Given the description of an element on the screen output the (x, y) to click on. 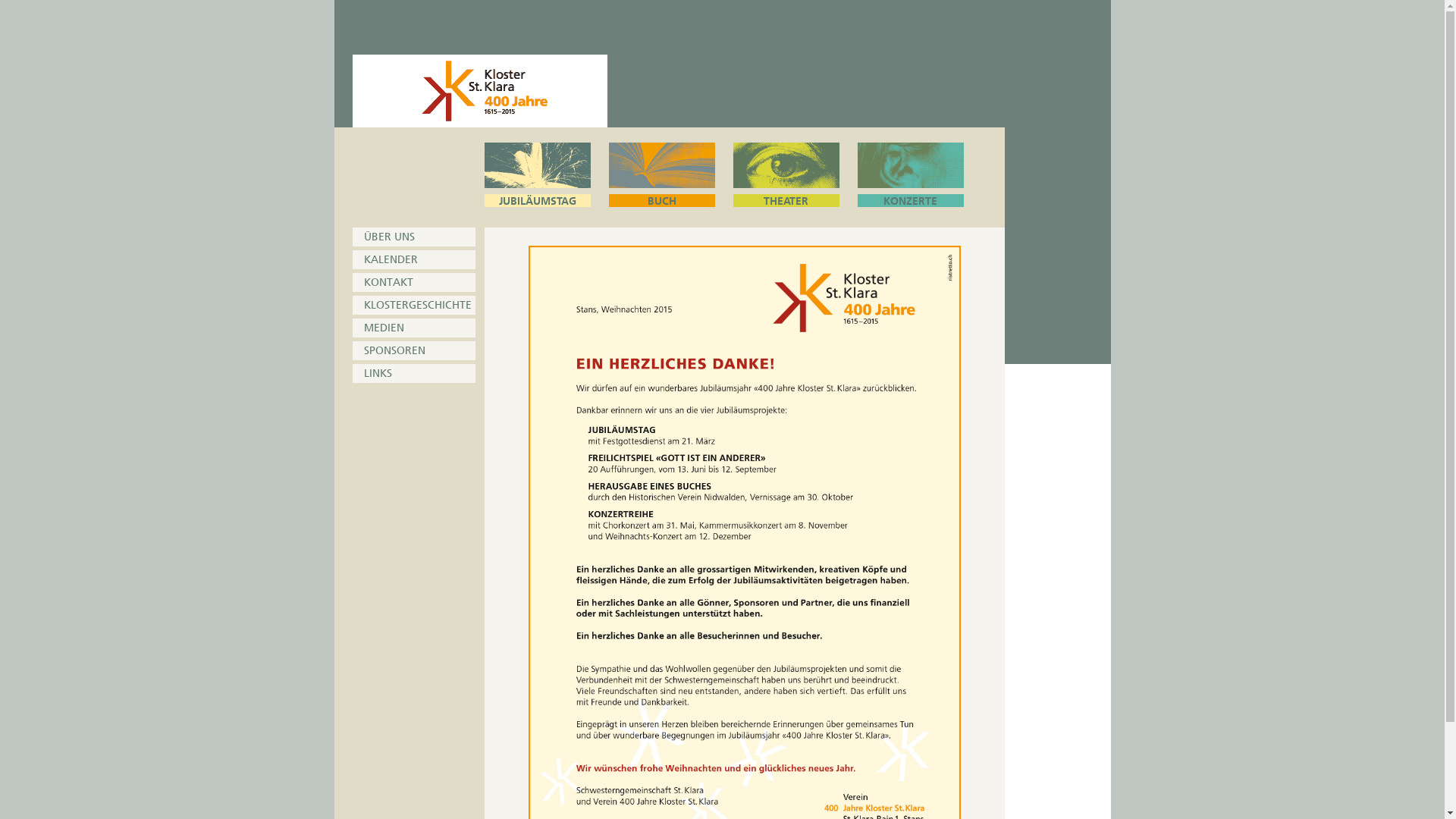
KONZERTE Element type: text (909, 174)
KLOSTERGESCHICHTE Element type: text (412, 304)
THEATER Element type: text (785, 174)
MEDIEN Element type: text (412, 327)
KONTAKT Element type: text (412, 282)
SPONSOREN Element type: text (412, 350)
LINKS Element type: text (412, 373)
KALENDER Element type: text (412, 259)
BUCH Element type: text (661, 174)
